Given the description of an element on the screen output the (x, y) to click on. 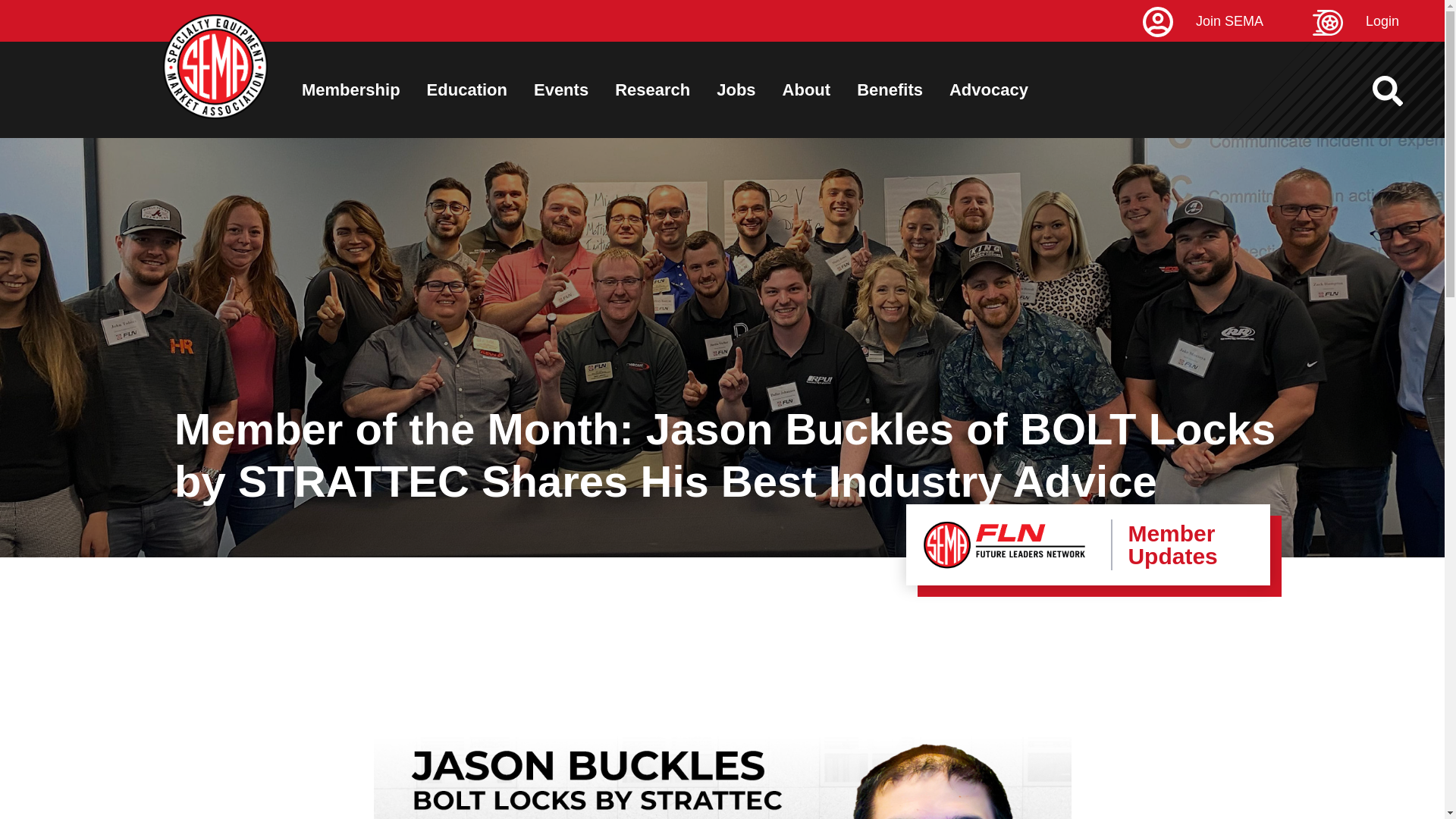
Advocacy (988, 89)
Join SEMA (1225, 20)
Research (652, 89)
Search Sema.org (1401, 91)
Education (466, 89)
Membership (350, 89)
Benefits (889, 89)
Login (1378, 20)
